Given the description of an element on the screen output the (x, y) to click on. 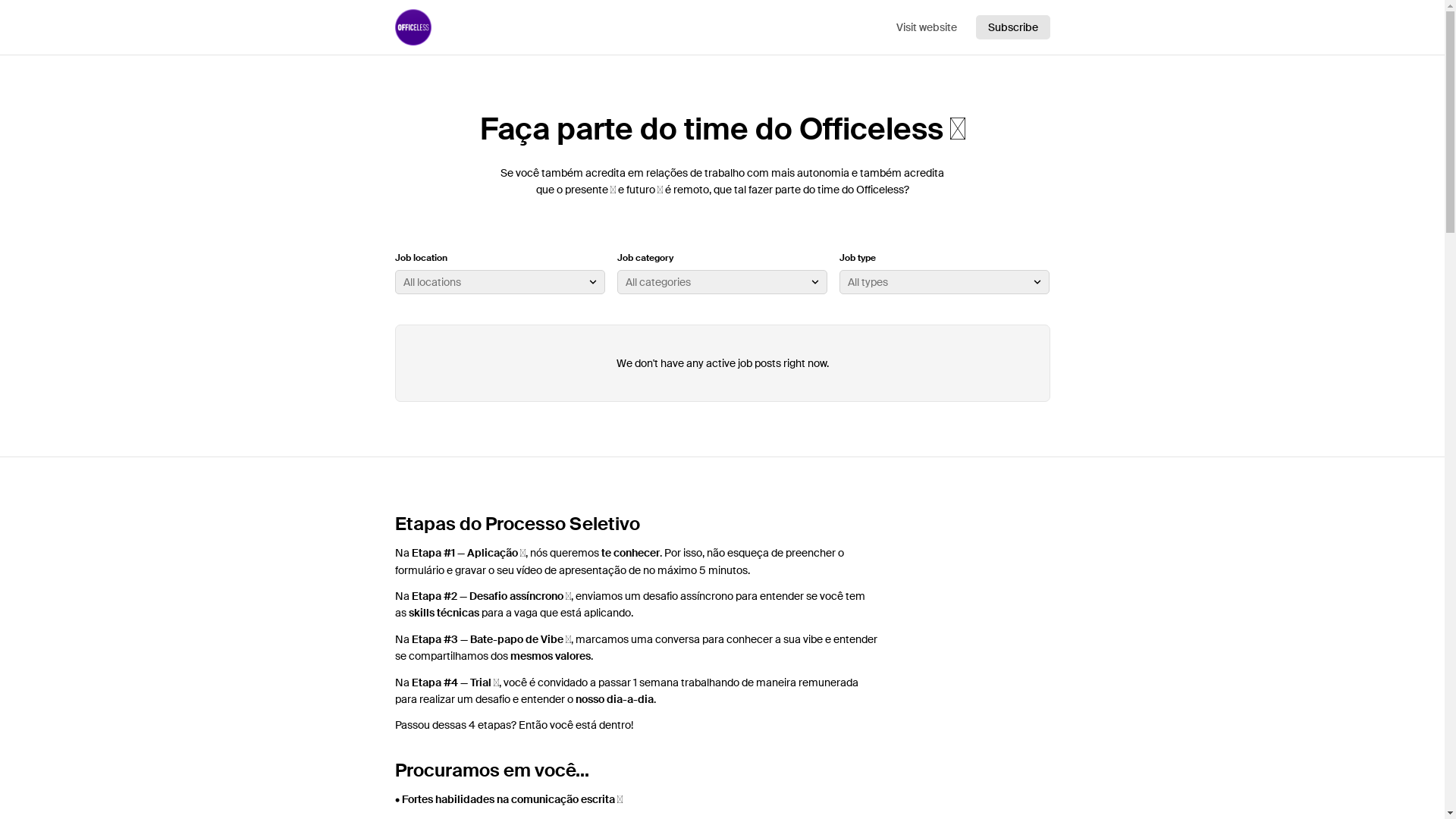
Subscribe Element type: text (1012, 27)
Visit website Element type: text (925, 27)
